Given the description of an element on the screen output the (x, y) to click on. 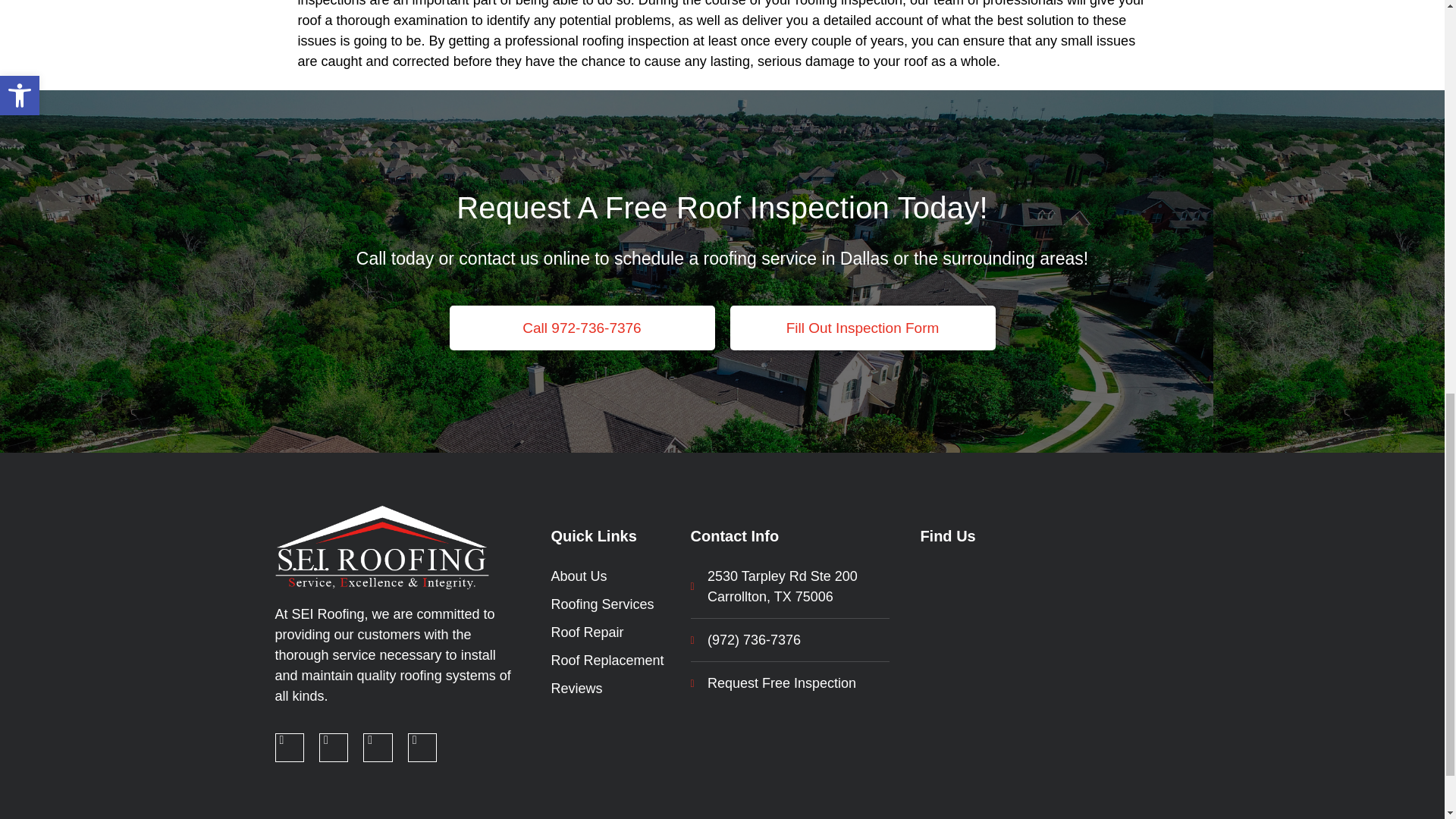
 2530 Tarpley Rd Ste 200 Carrollton, TX 75006 (1044, 622)
